Given the description of an element on the screen output the (x, y) to click on. 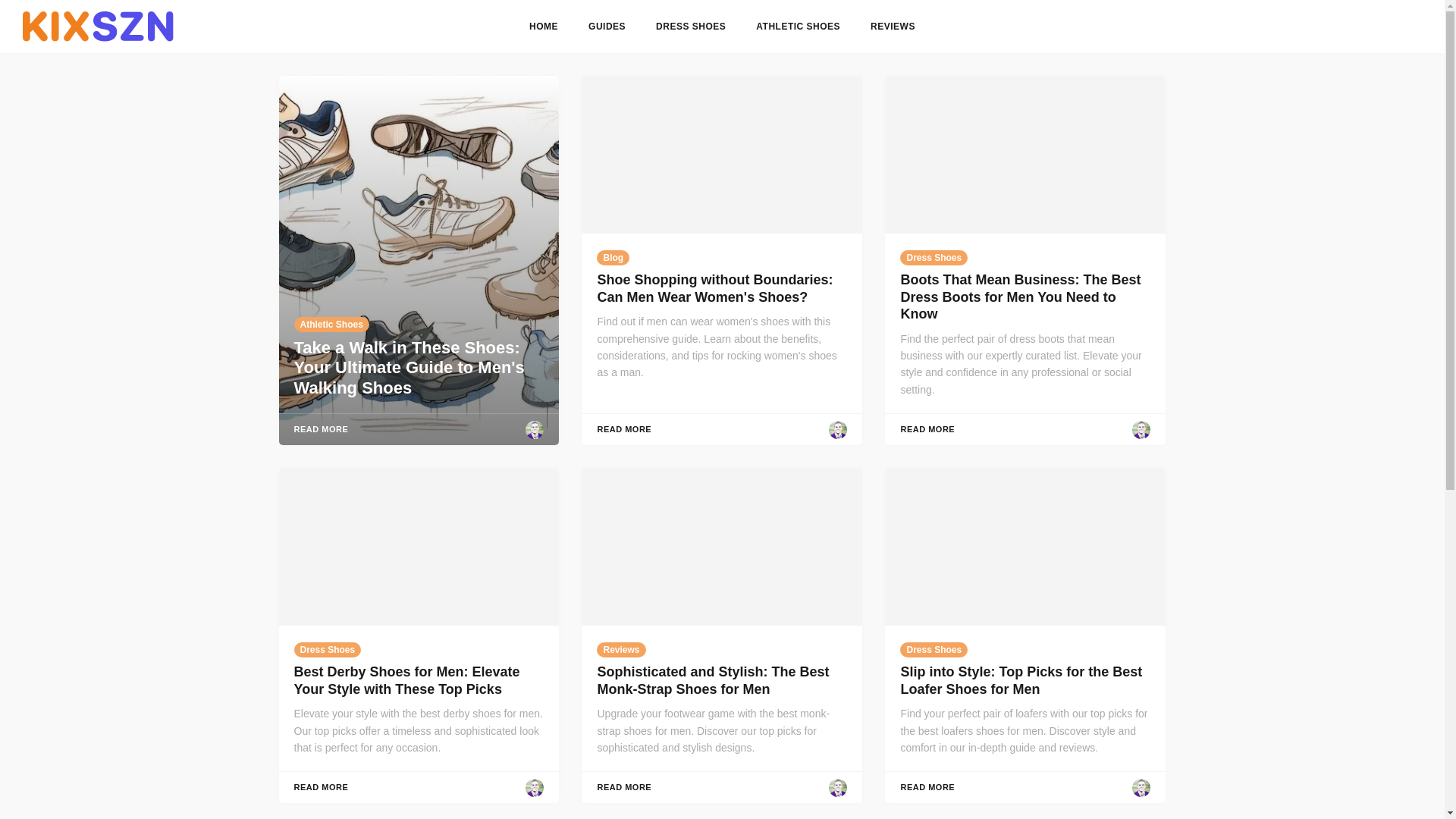
Blog (612, 257)
READ MORE (321, 429)
Sophisticated and Stylish: The Best Monk-Strap Shoes for Men (712, 680)
READ MORE (927, 786)
Dress Shoes (933, 649)
READ MORE (927, 429)
Reviews (620, 649)
DRESS SHOES (690, 26)
